Given the description of an element on the screen output the (x, y) to click on. 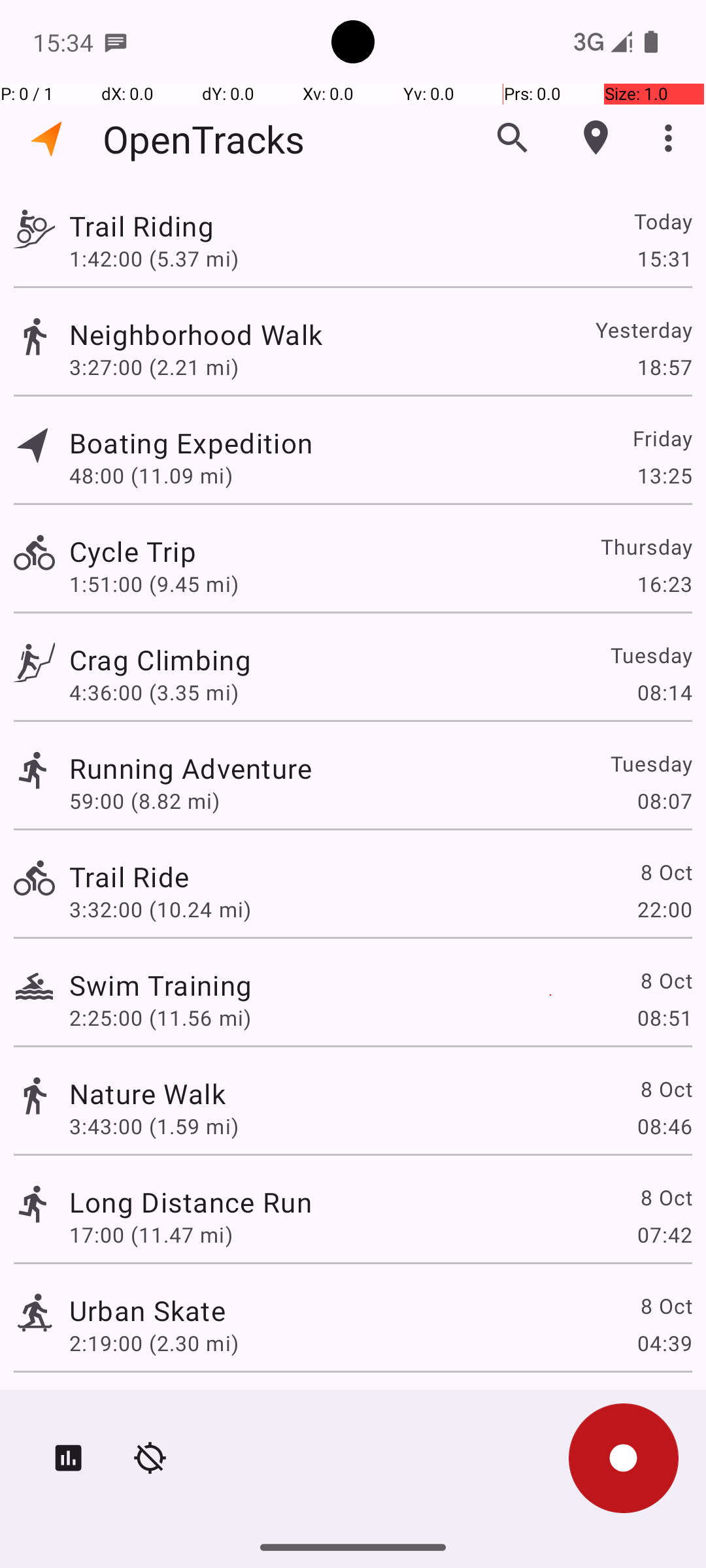
Trail Riding Element type: android.widget.TextView (141, 225)
1:42:00 (5.37 mi) Element type: android.widget.TextView (153, 258)
15:31 Element type: android.widget.TextView (664, 258)
Neighborhood Walk Element type: android.widget.TextView (195, 333)
3:27:00 (2.21 mi) Element type: android.widget.TextView (153, 366)
18:57 Element type: android.widget.TextView (664, 366)
Boating Expedition Element type: android.widget.TextView (190, 442)
48:00 (11.09 mi) Element type: android.widget.TextView (150, 475)
13:25 Element type: android.widget.TextView (664, 475)
Cycle Trip Element type: android.widget.TextView (132, 550)
1:51:00 (9.45 mi) Element type: android.widget.TextView (153, 583)
16:23 Element type: android.widget.TextView (664, 583)
Crag Climbing Element type: android.widget.TextView (159, 659)
4:36:00 (3.35 mi) Element type: android.widget.TextView (153, 692)
08:14 Element type: android.widget.TextView (664, 692)
Running Adventure Element type: android.widget.TextView (190, 767)
59:00 (8.82 mi) Element type: android.widget.TextView (144, 800)
08:07 Element type: android.widget.TextView (664, 800)
Trail Ride Element type: android.widget.TextView (128, 876)
8 Oct Element type: android.widget.TextView (665, 871)
3:32:00 (10.24 mi) Element type: android.widget.TextView (159, 909)
22:00 Element type: android.widget.TextView (664, 909)
Swim Training Element type: android.widget.TextView (160, 984)
2:25:00 (11.56 mi) Element type: android.widget.TextView (159, 1017)
08:51 Element type: android.widget.TextView (664, 1017)
Nature Walk Element type: android.widget.TextView (147, 1092)
3:43:00 (1.59 mi) Element type: android.widget.TextView (153, 1125)
08:46 Element type: android.widget.TextView (664, 1125)
Long Distance Run Element type: android.widget.TextView (190, 1201)
17:00 (11.47 mi) Element type: android.widget.TextView (150, 1234)
07:42 Element type: android.widget.TextView (664, 1234)
Urban Skate Element type: android.widget.TextView (147, 1309)
2:19:00 (2.30 mi) Element type: android.widget.TextView (153, 1342)
04:39 Element type: android.widget.TextView (664, 1342)
Snowboarding Excursion Element type: android.widget.TextView (229, 1408)
7 Oct Element type: android.widget.TextView (665, 1408)
